Given the description of an element on the screen output the (x, y) to click on. 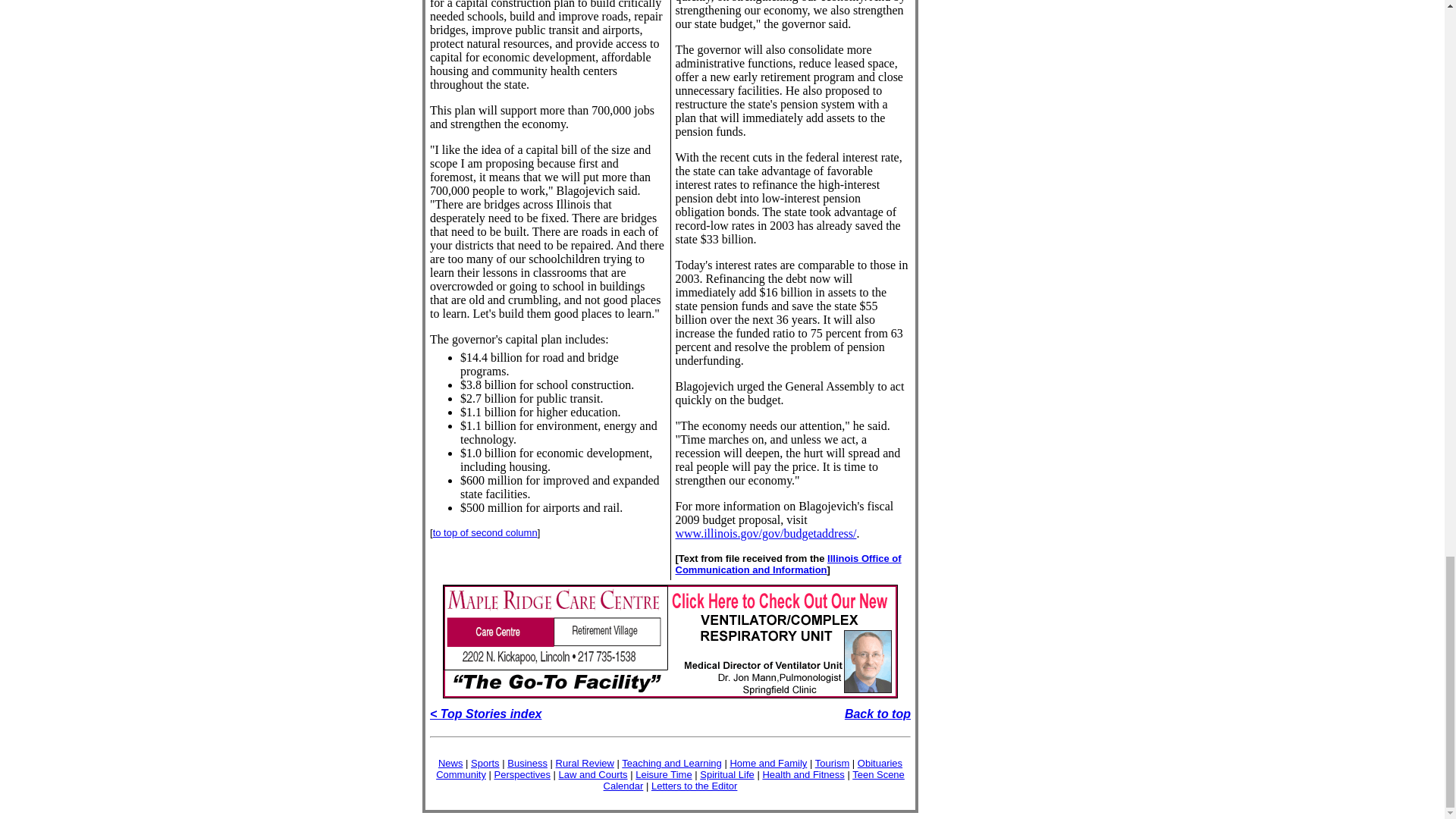
Law and Courts (593, 774)
Illinois Office of Communication and Information (788, 563)
Sports (484, 763)
Back to top (877, 713)
News (450, 763)
Teen Scene (877, 774)
Calendar (623, 785)
Health and Fitness (802, 774)
Perspectives (522, 774)
Obituaries (879, 763)
Tourism (832, 763)
Rural Review (585, 763)
Letters to the Editor (693, 785)
Spiritual Life (727, 774)
Community (460, 774)
